Given the description of an element on the screen output the (x, y) to click on. 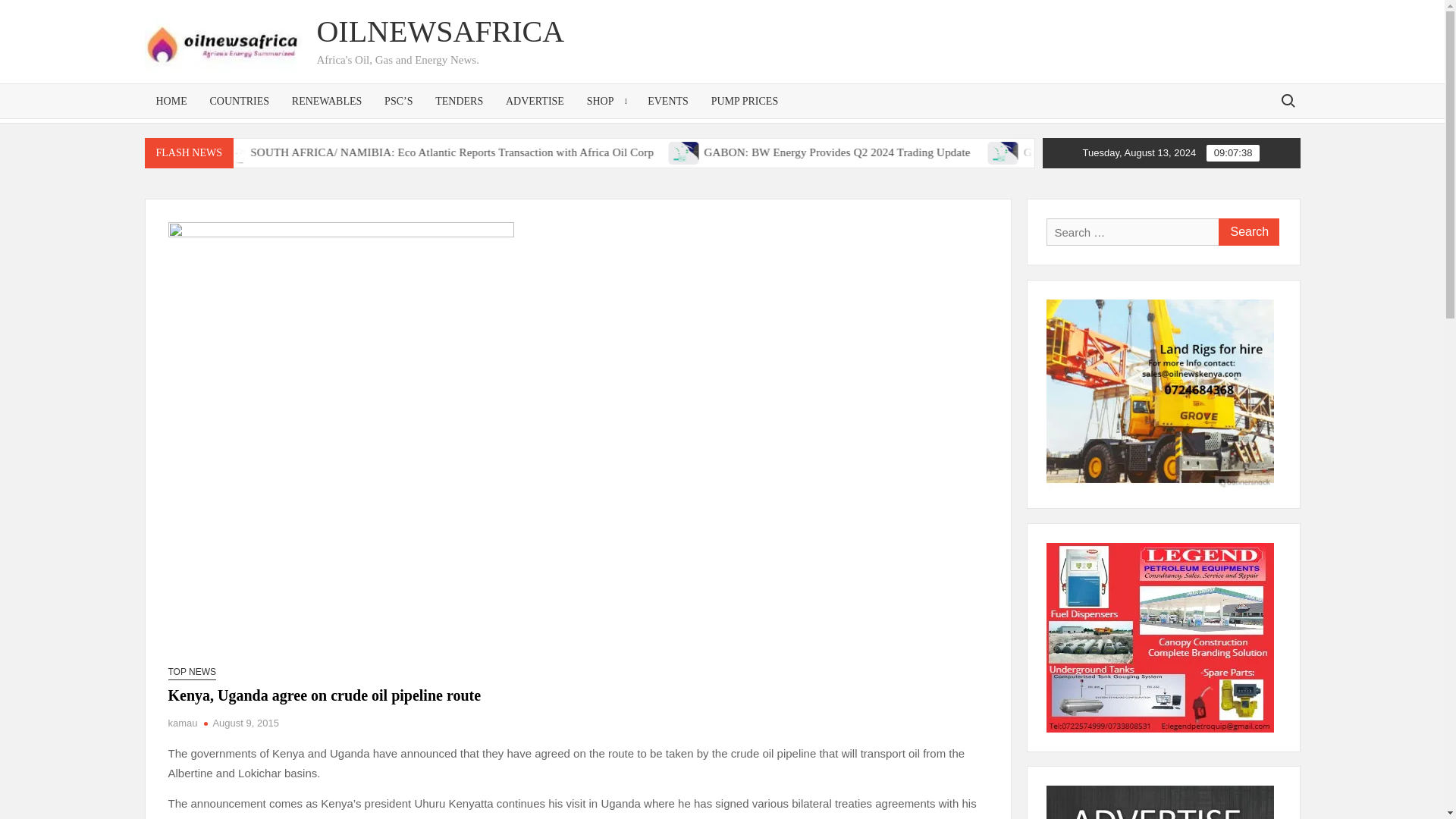
EVENTS (668, 100)
Search for: (1287, 100)
Search (1247, 231)
ADVERTISE (535, 100)
RENEWABLES (327, 100)
OILNEWSAFRICA (439, 31)
PUMP PRICES (745, 100)
COUNTRIES (239, 100)
TENDERS (459, 100)
Search (1247, 231)
